Given the description of an element on the screen output the (x, y) to click on. 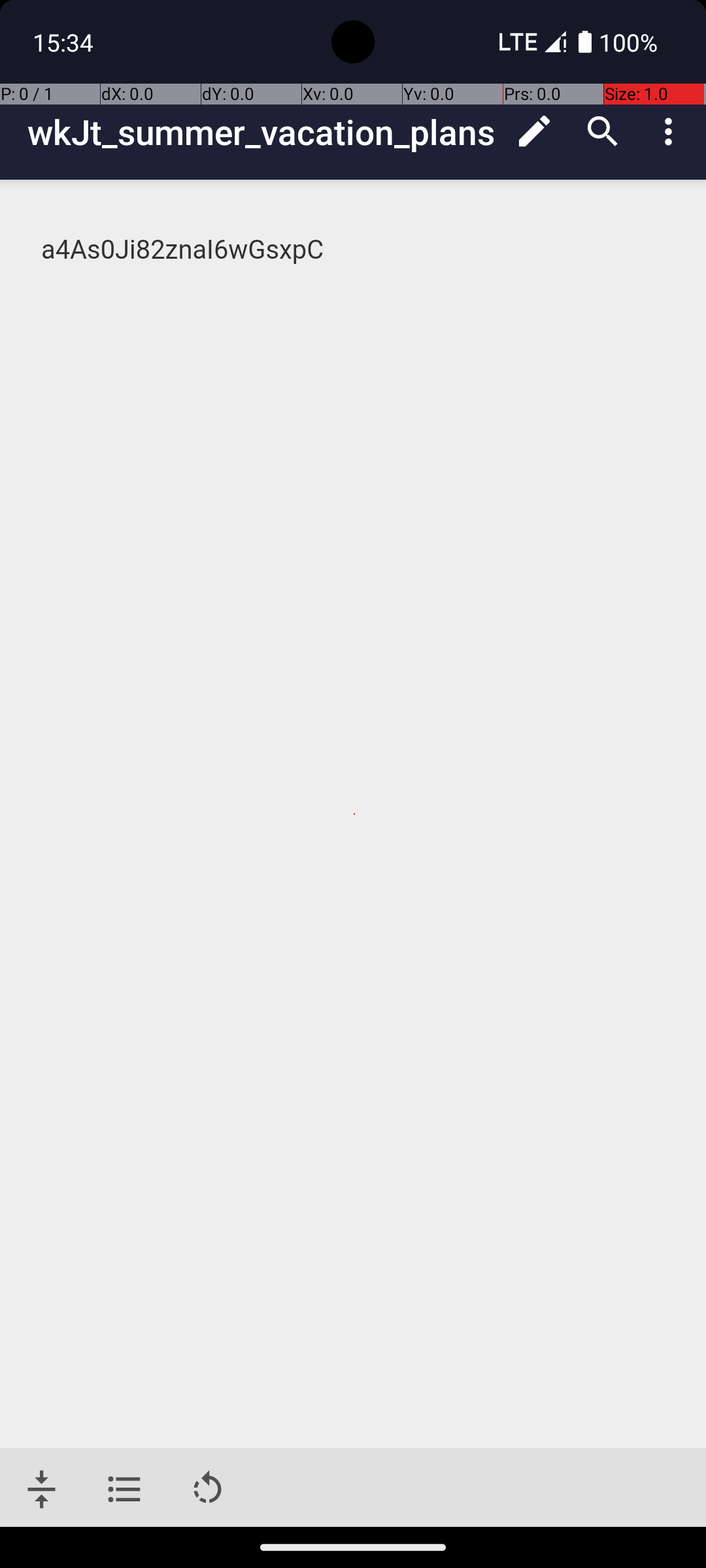
wkJt_summer_vacation_plans Element type: android.widget.TextView (263, 131)
a4As0Ji82znaI6wGsxpC Element type: android.widget.TextView (354, 249)
